Given the description of an element on the screen output the (x, y) to click on. 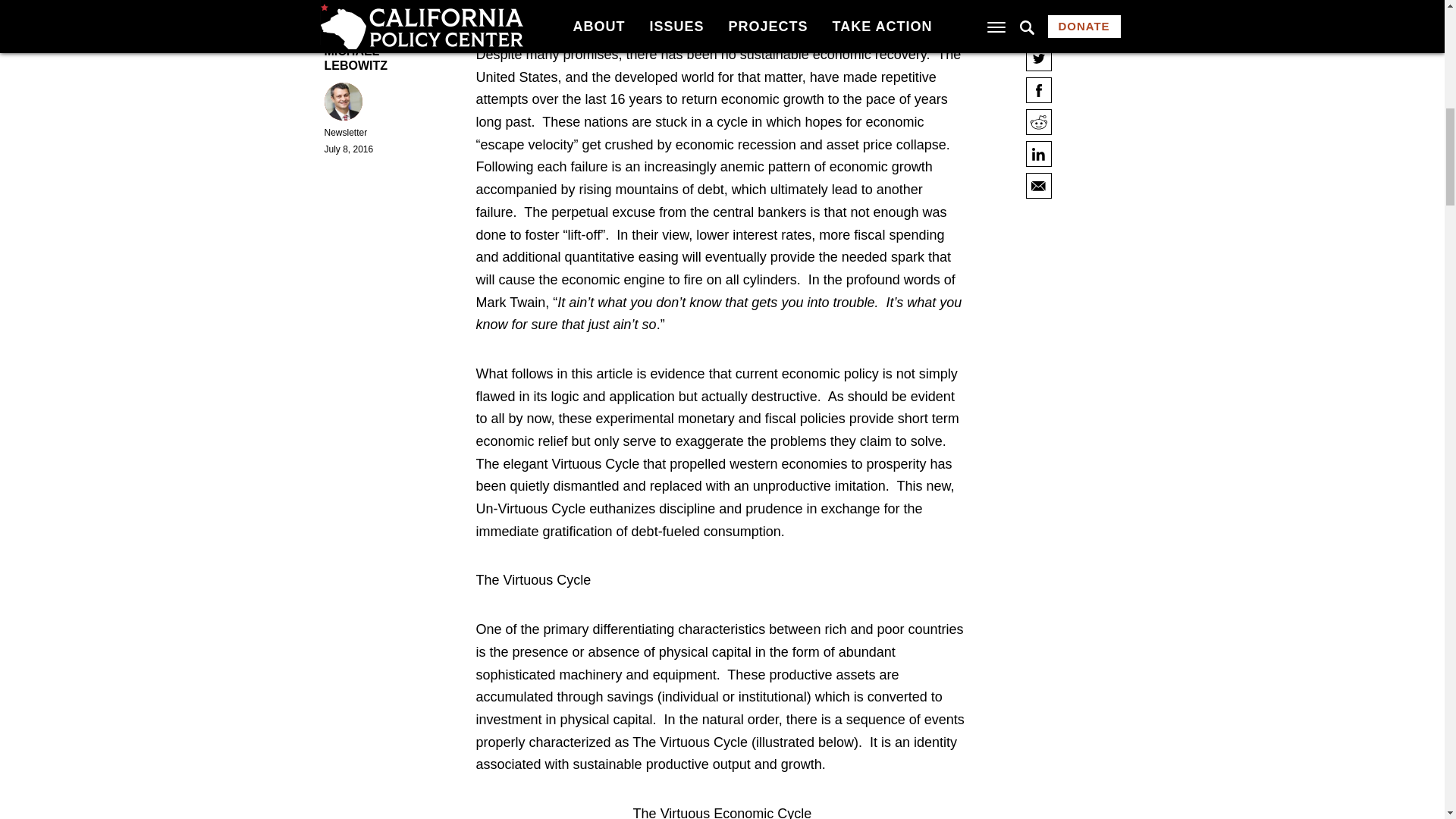
ISSUES (614, 410)
Meet the Team (619, 337)
Education Reform (628, 431)
Newsletter Signup (628, 376)
Contact (600, 357)
ABOUT (612, 316)
